Given the description of an element on the screen output the (x, y) to click on. 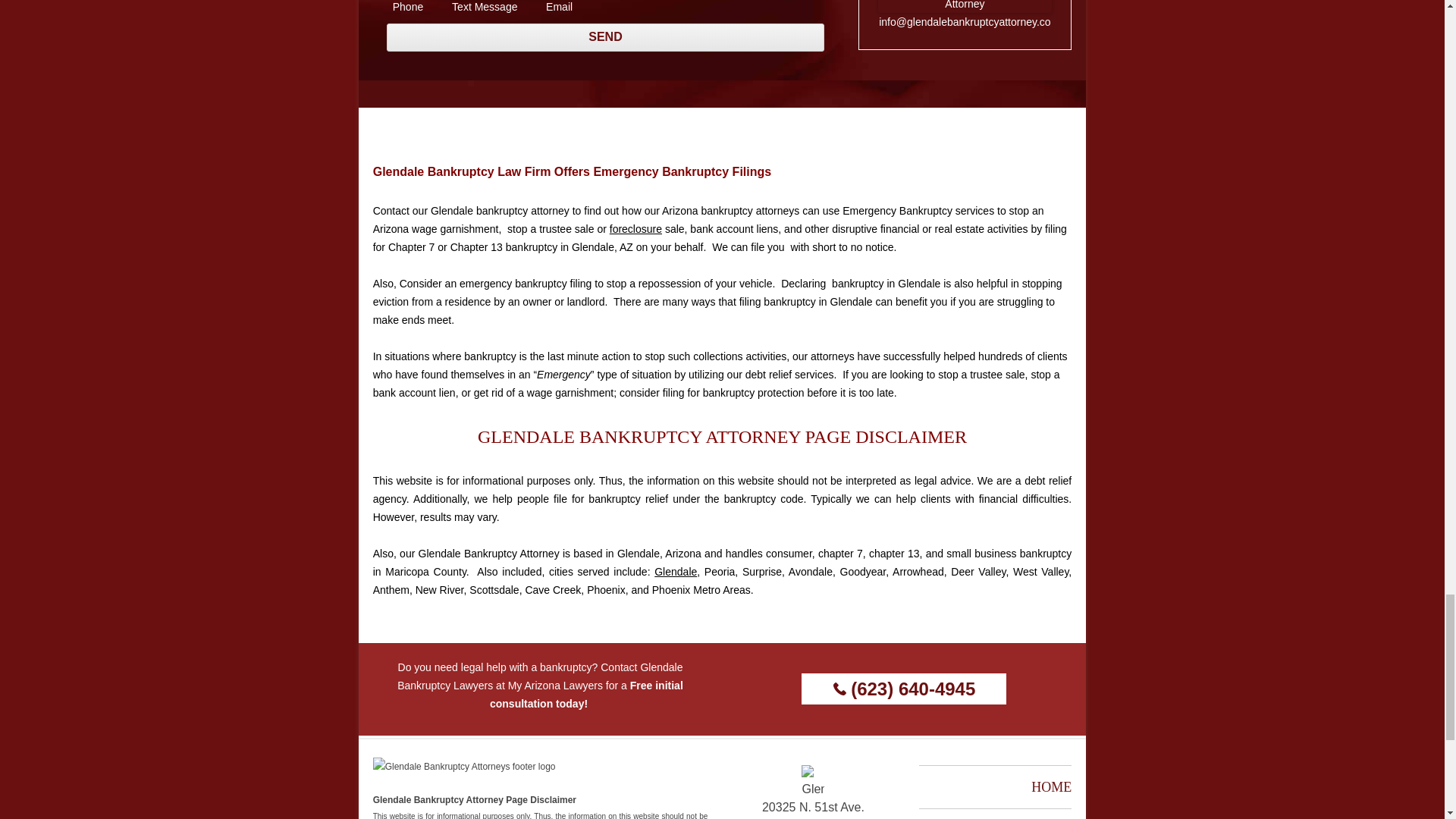
foreclosure (636, 228)
SEND (606, 37)
Glendale (675, 571)
SEND (606, 37)
HOME (1050, 786)
